Given the description of an element on the screen output the (x, y) to click on. 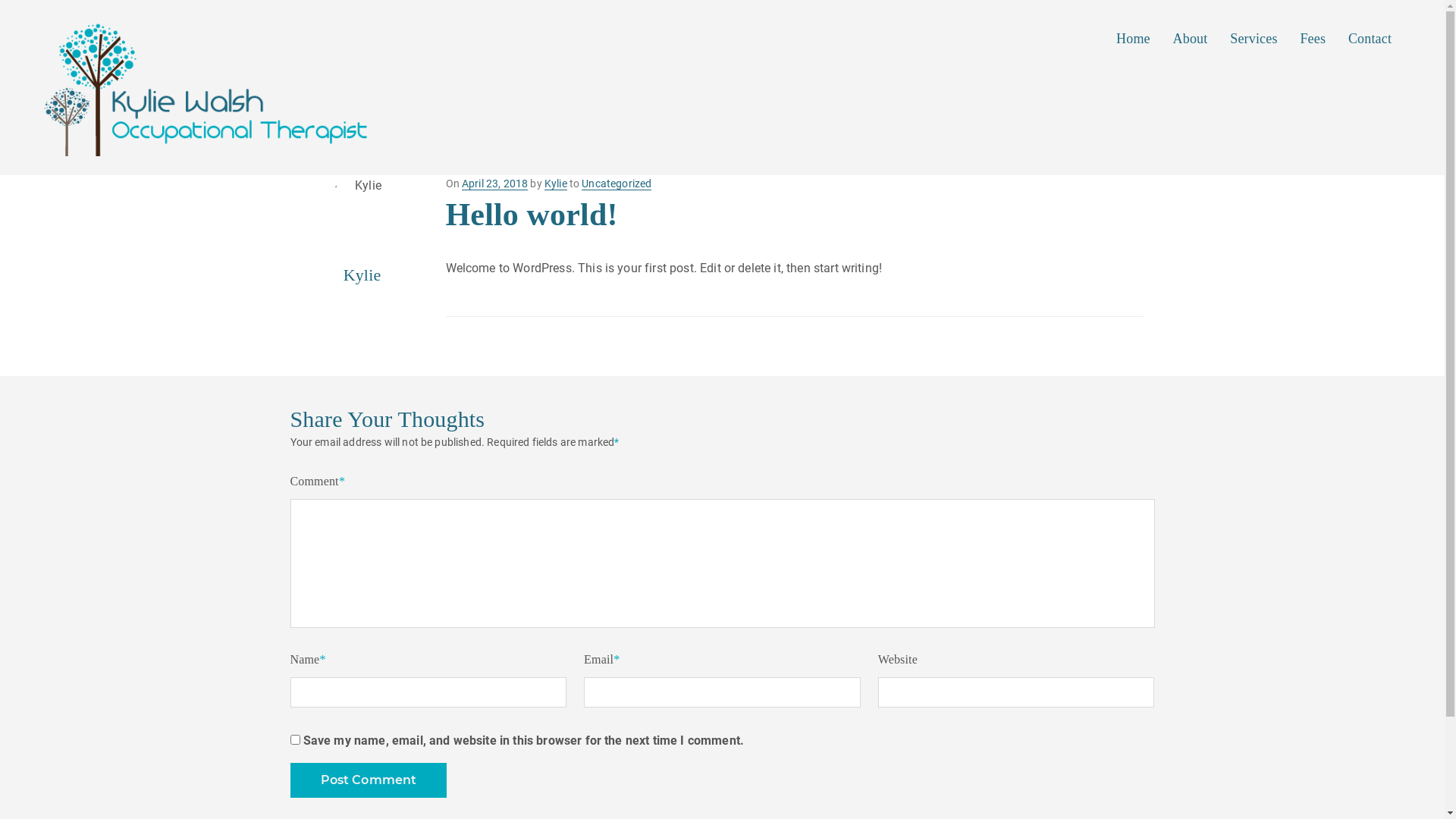
Kylie Element type: text (555, 183)
Home Element type: text (1132, 38)
April 23, 2018 Element type: text (494, 183)
Contact Element type: text (1369, 38)
Uncategorized Element type: text (616, 183)
About Element type: text (1190, 38)
Fees Element type: text (1313, 38)
Post Comment Element type: text (367, 779)
Services Element type: text (1253, 38)
